Given the description of an element on the screen output the (x, y) to click on. 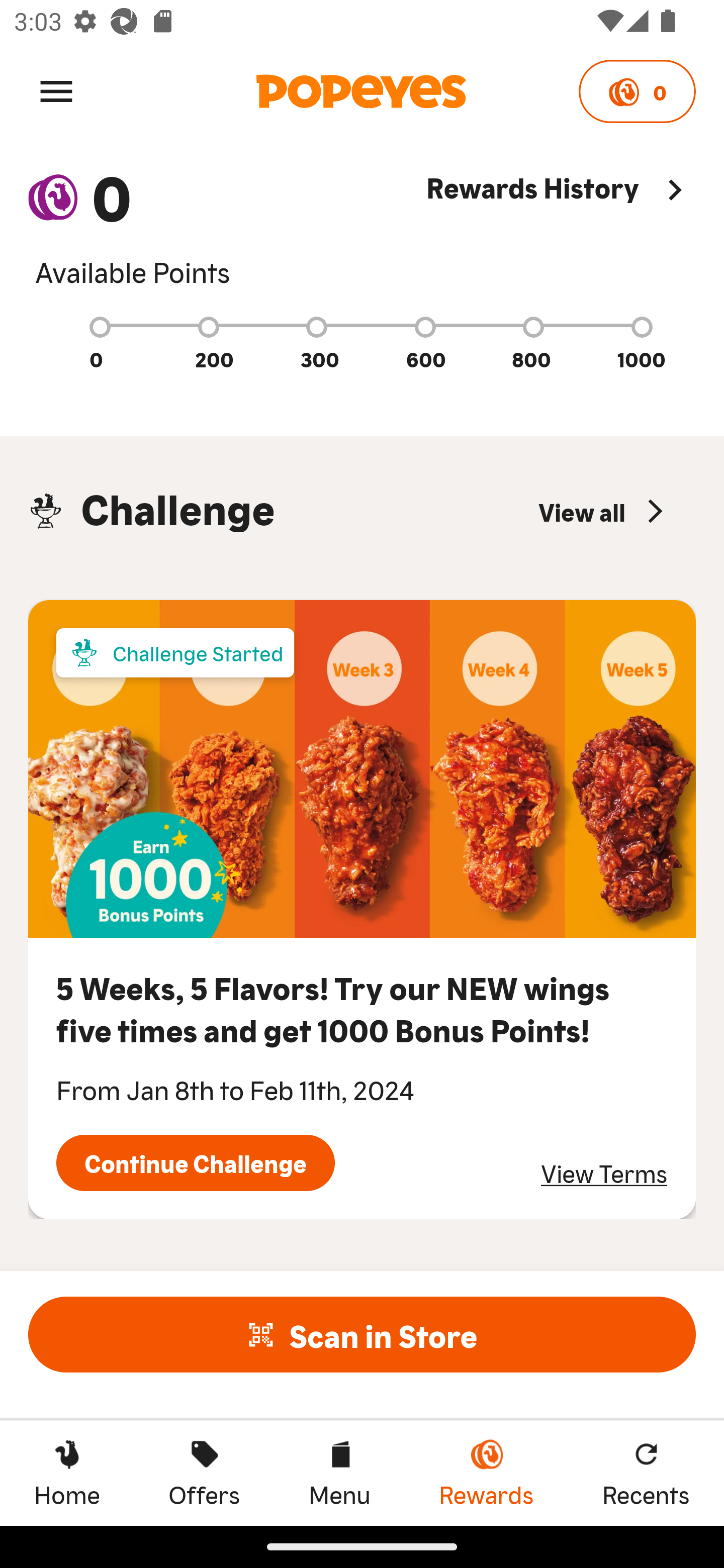
Menu  (56, 90)
0 Points 0 (636, 91)
Rewards History Rewards History  (560, 228)
View all (602, 511)
Continue Challenge (195, 1163)
View Terms (603, 1172)
Scan in Store  Scan in Store (361, 1334)
Home Home Home (66, 1472)
Offers Offers Offers (203, 1472)
Menu Menu Menu (339, 1472)
Recents Recents Recents (646, 1472)
